Given the description of an element on the screen output the (x, y) to click on. 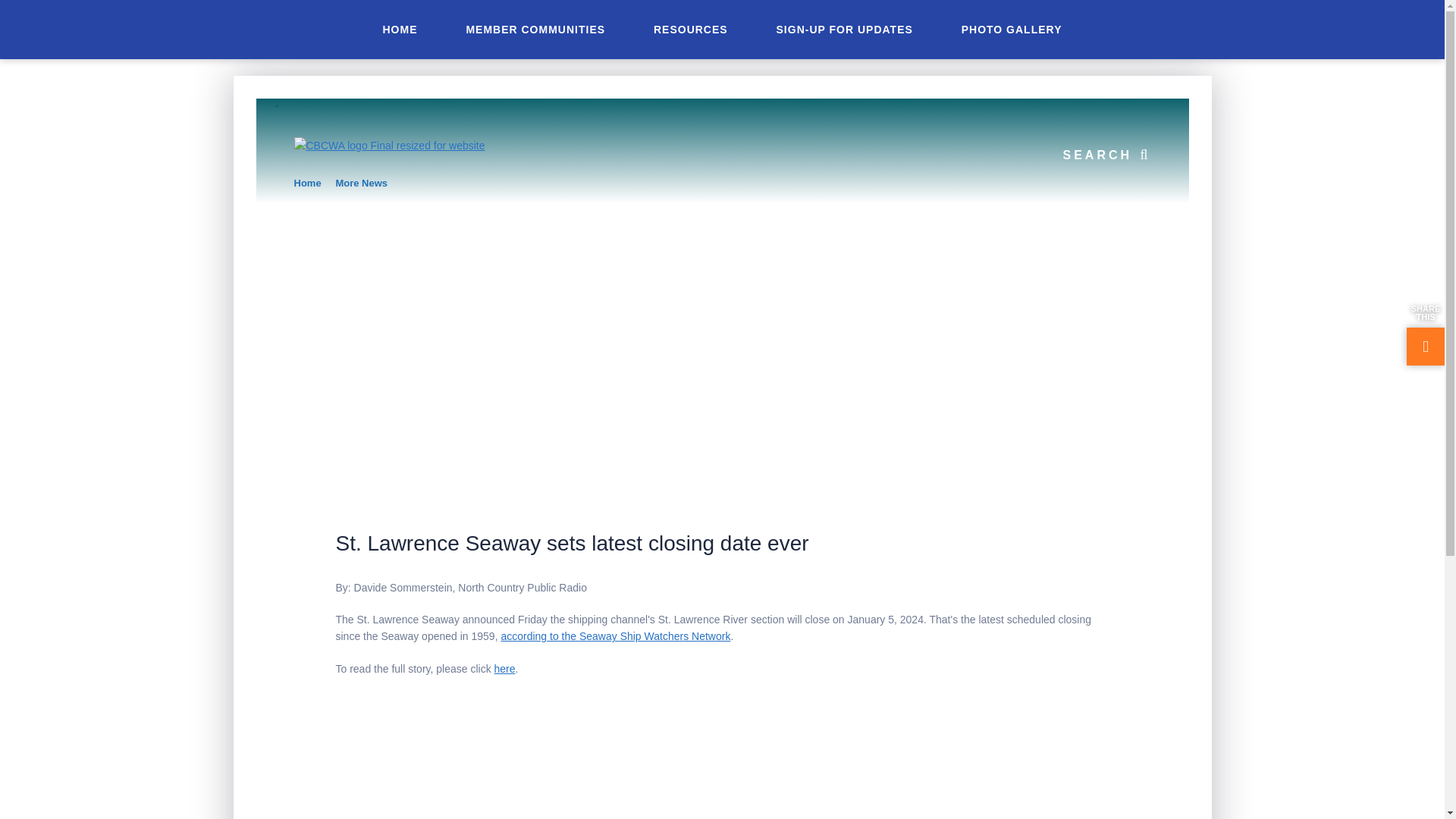
HOME (399, 29)
Home (307, 183)
RESOURCES (690, 29)
SIGN-UP FOR UPDATES (845, 29)
here (505, 668)
MEMBER COMMUNITIES (534, 29)
according to the Seaway Ship Watchers Network (615, 635)
More News (360, 183)
PHOTO GALLERY (1011, 29)
